Given the description of an element on the screen output the (x, y) to click on. 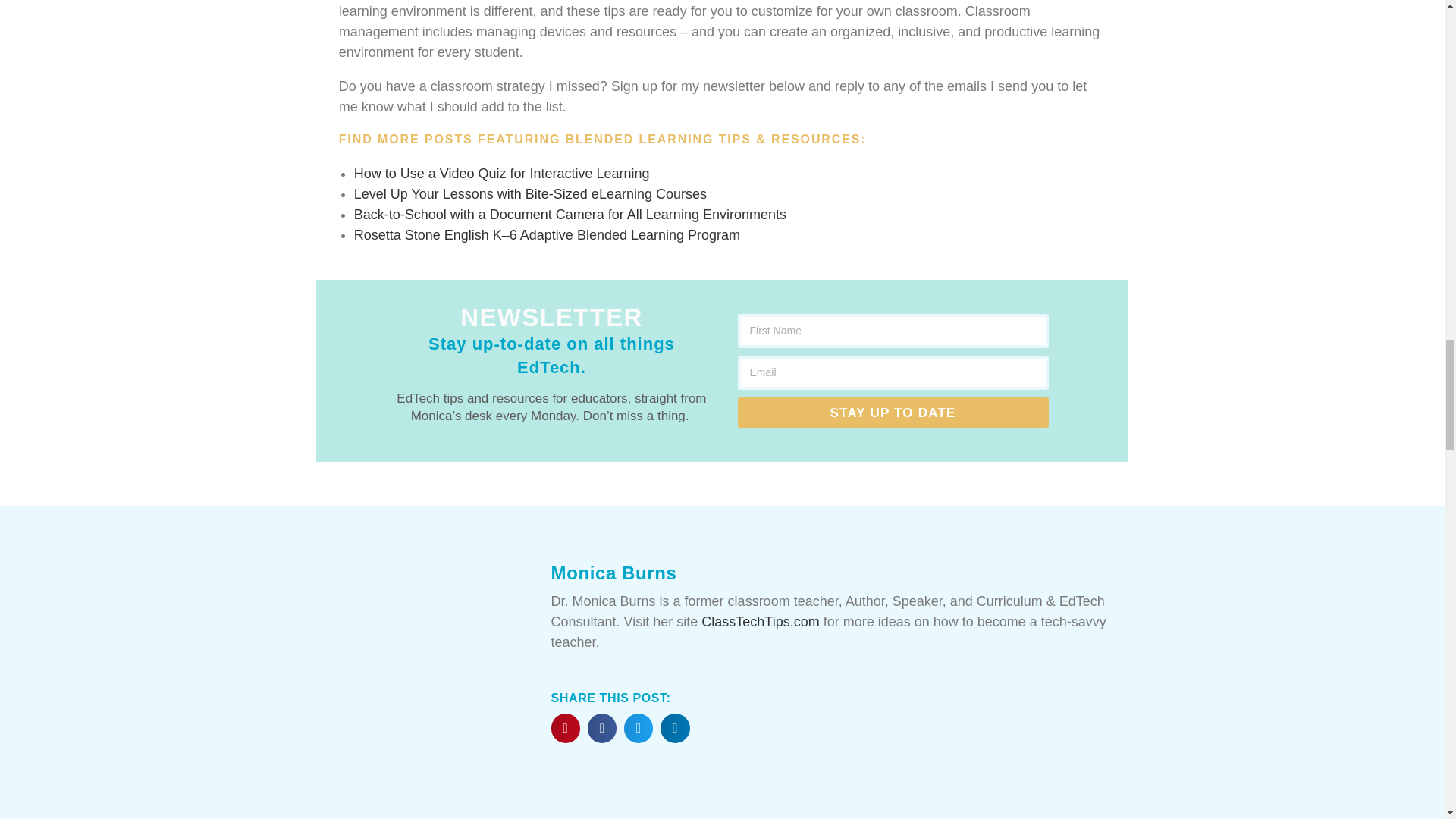
How to Use a Video Quiz for Interactive Learning (501, 173)
STAY UP TO DATE (892, 412)
Level Up Your Lessons with Bite-Sized eLearning Courses (529, 193)
